Given the description of an element on the screen output the (x, y) to click on. 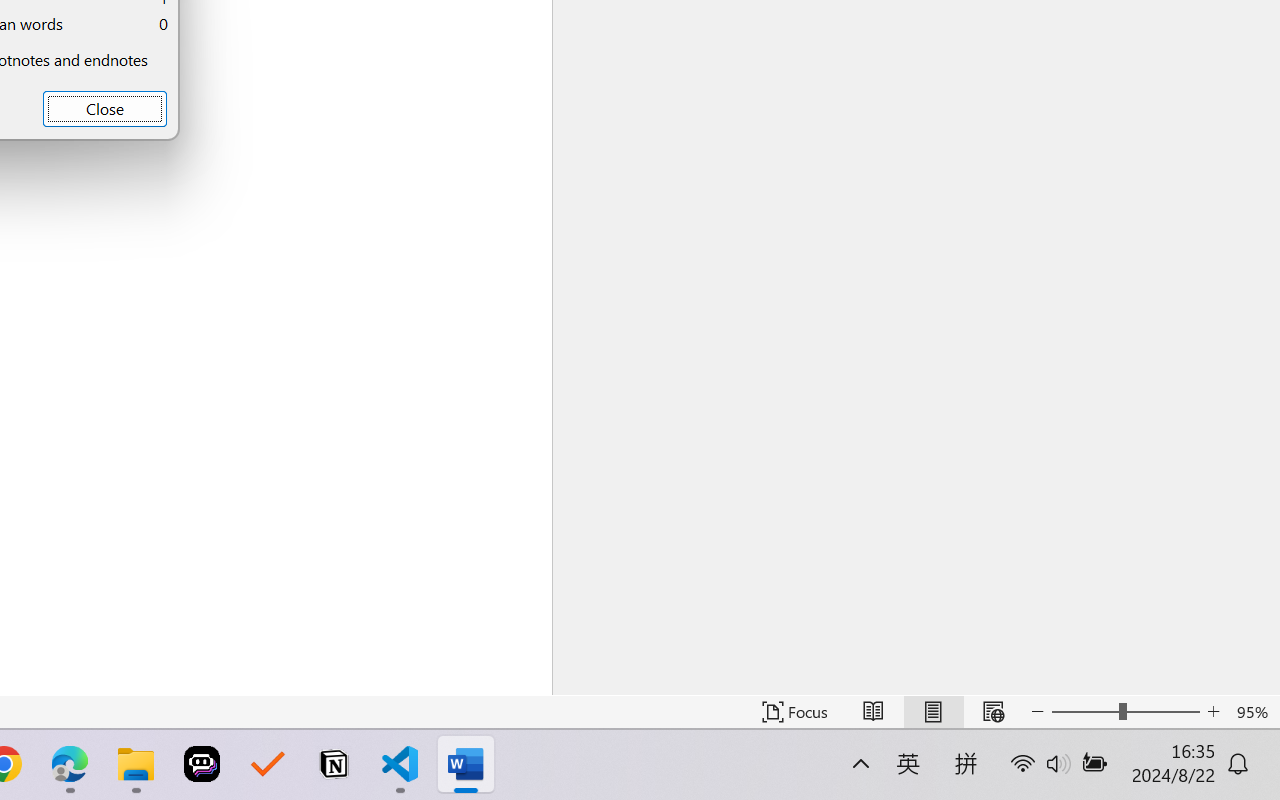
Notion (333, 764)
